Given the description of an element on the screen output the (x, y) to click on. 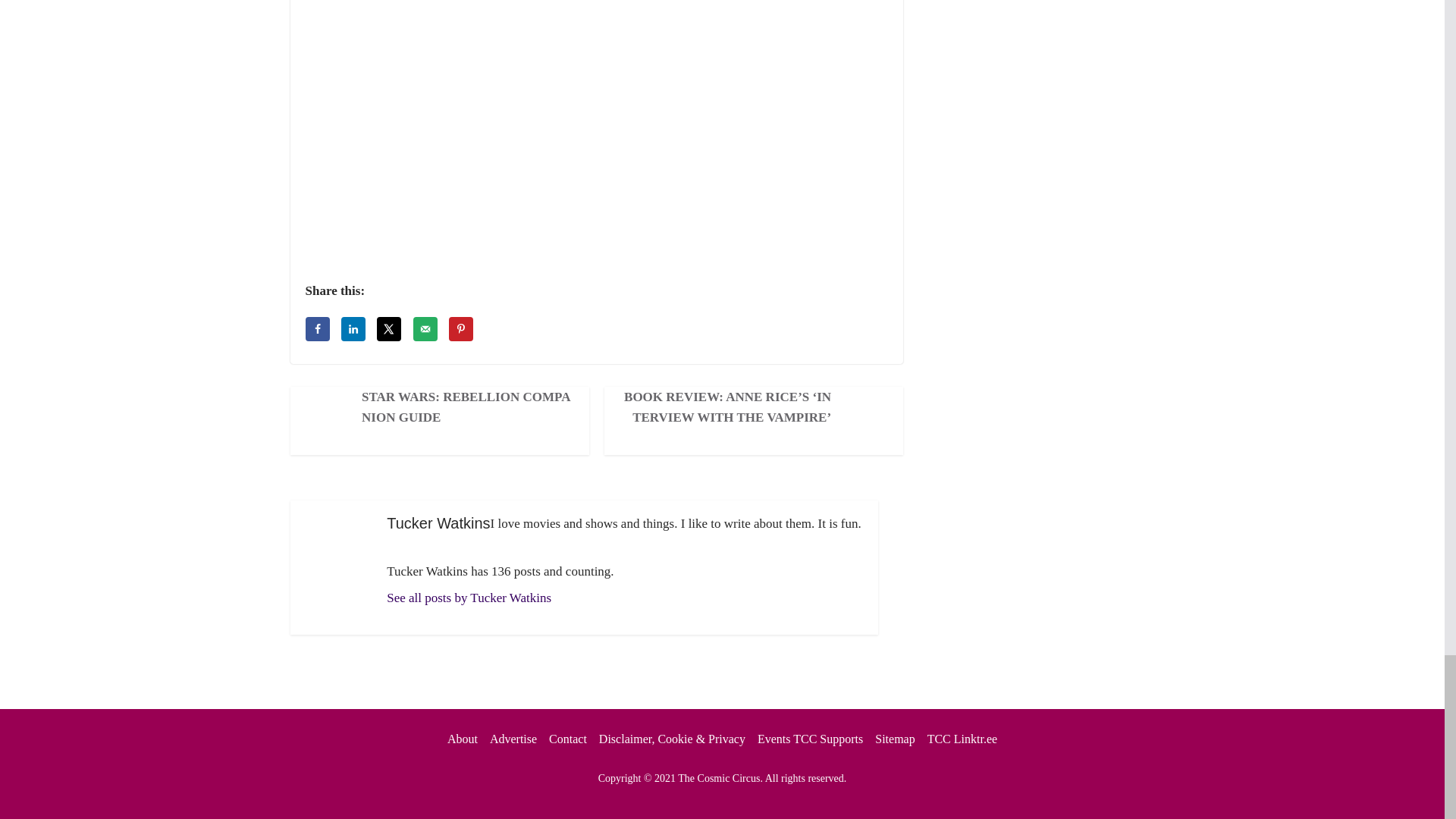
Share on LinkedIn (352, 328)
Share on Facebook (316, 328)
Send over email (425, 328)
Share on X (389, 328)
Save to Pinterest (460, 328)
